Given the description of an element on the screen output the (x, y) to click on. 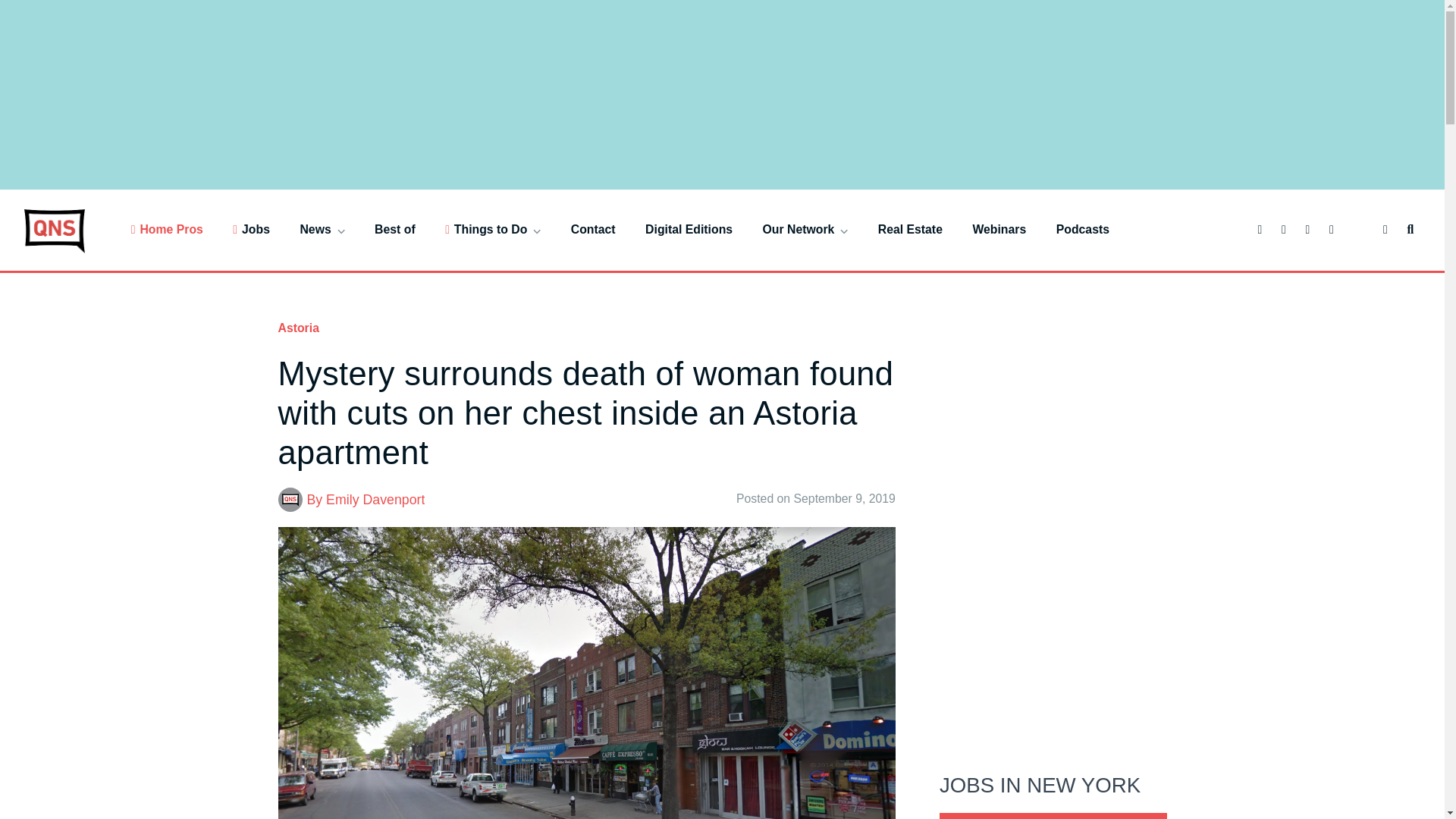
Best of (394, 228)
Things to Do (492, 228)
Home Pros (167, 228)
Our Network (805, 228)
News (321, 228)
Jobs (250, 228)
Podcasts (1083, 228)
Contact (592, 228)
Posts by Emily Davenport (375, 499)
Webinars (999, 228)
